Given the description of an element on the screen output the (x, y) to click on. 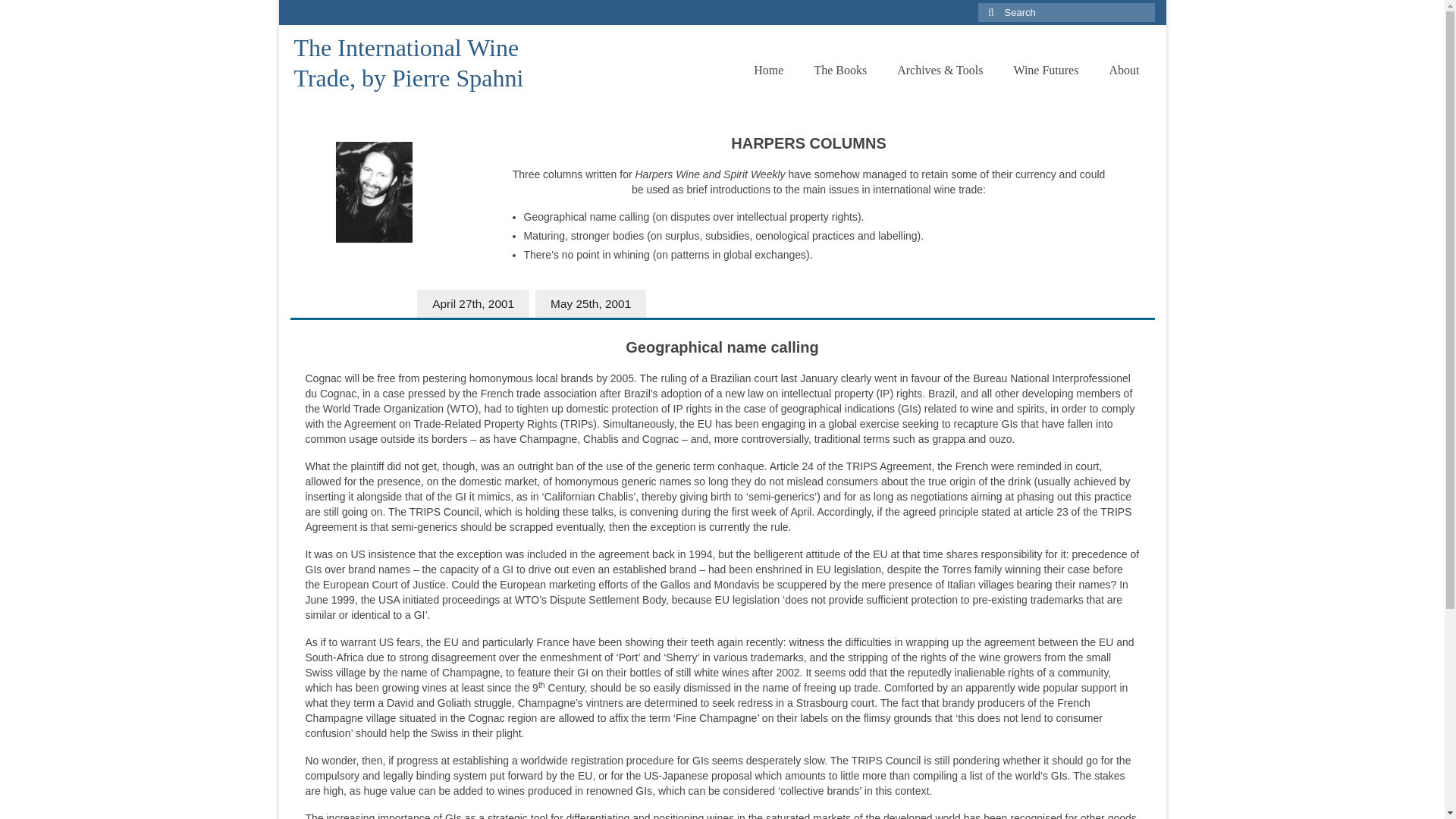
May 25th, 2001 (590, 303)
The Books (839, 70)
About (1123, 70)
March 30th, 2001 (349, 303)
Home (767, 70)
Wine Futures (1045, 70)
April 27th, 2001 (472, 303)
The International Wine Trade, by Pierre Spahni (409, 62)
